Given the description of an element on the screen output the (x, y) to click on. 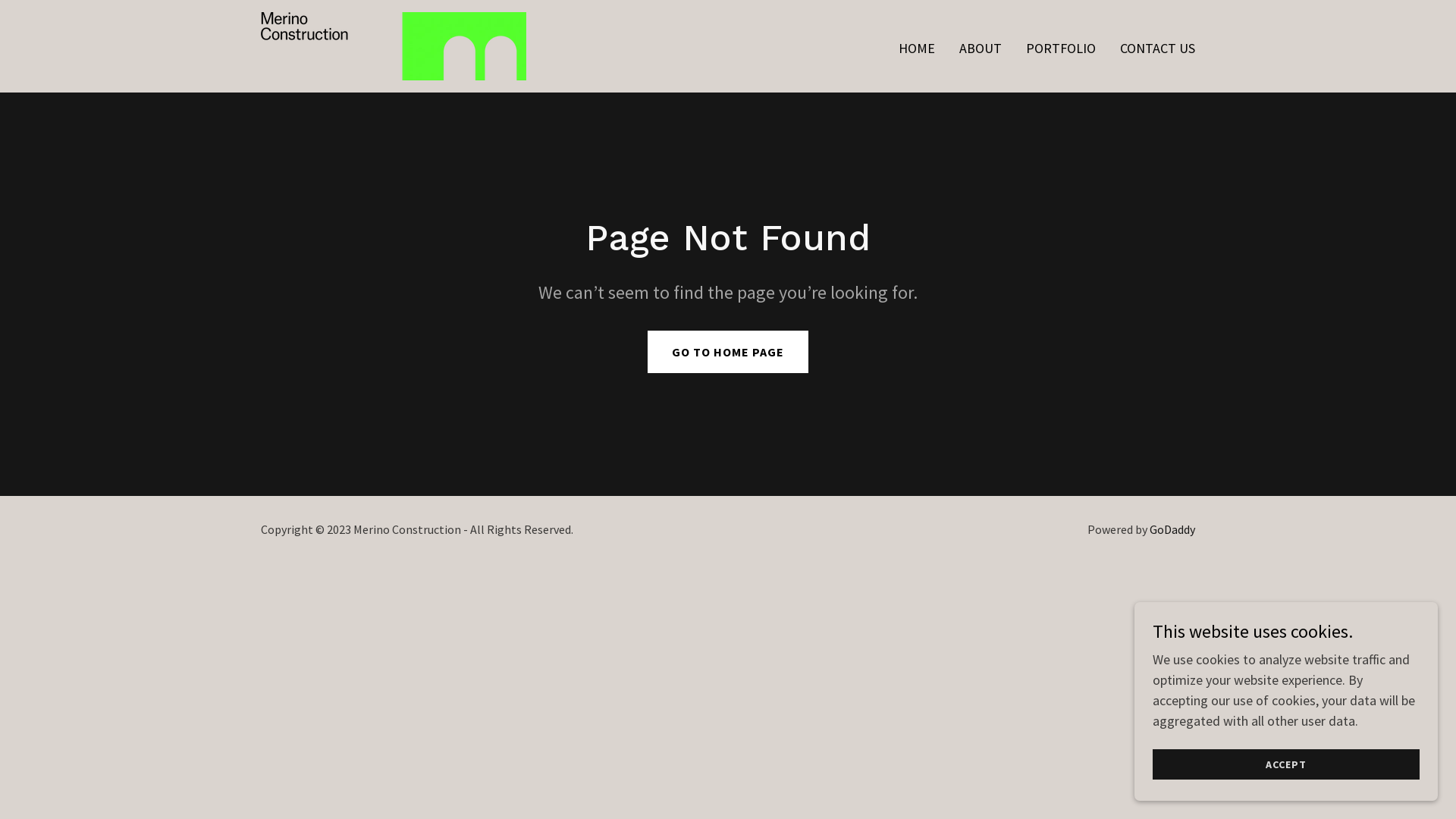
HOME Element type: text (916, 48)
Merino Construction Element type: hover (393, 44)
ACCEPT Element type: text (1285, 764)
CONTACT US Element type: text (1157, 48)
GO TO HOME PAGE Element type: text (727, 351)
PORTFOLIO Element type: text (1060, 48)
GoDaddy Element type: text (1172, 528)
ABOUT Element type: text (980, 48)
